Given the description of an element on the screen output the (x, y) to click on. 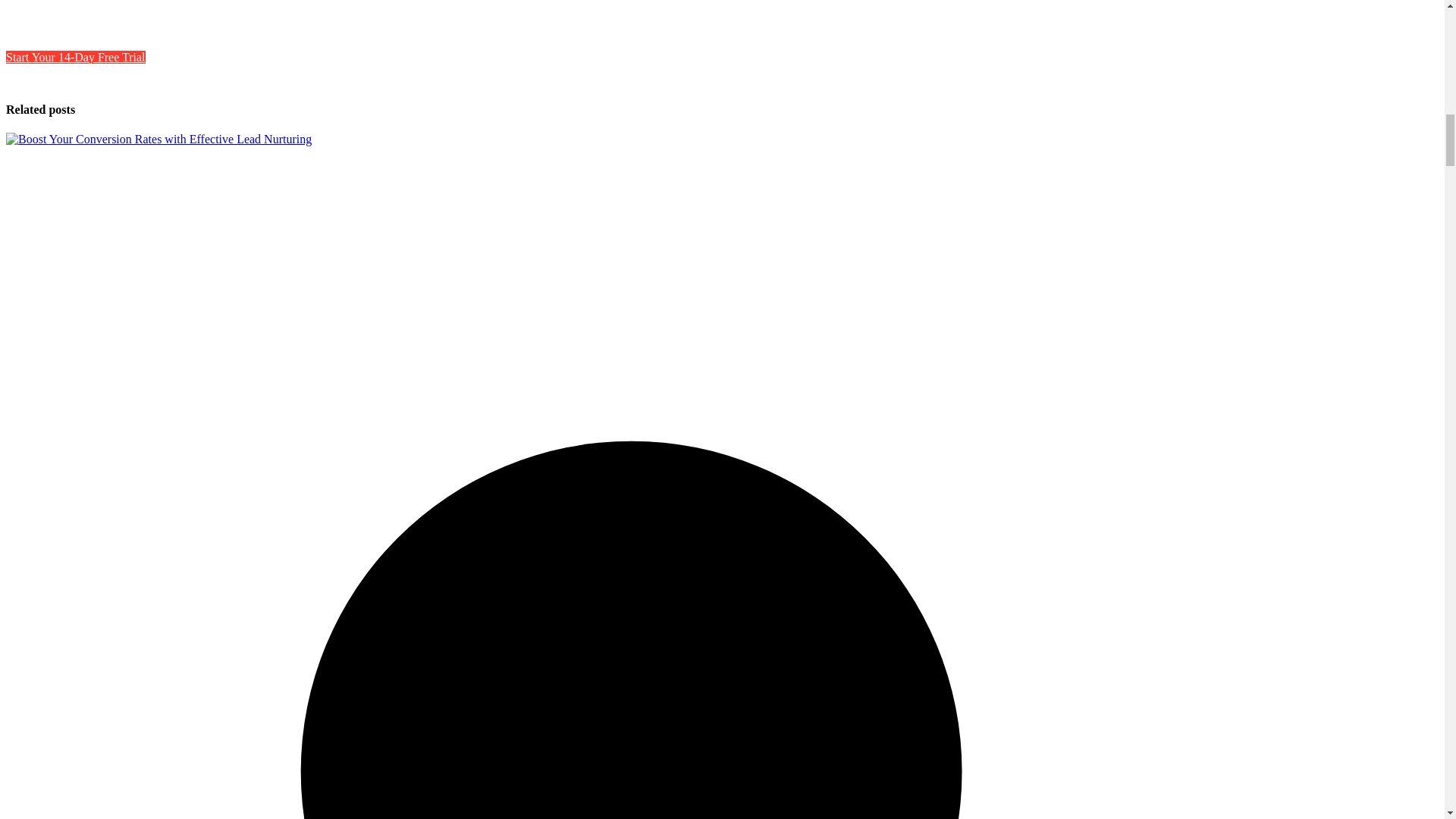
Start Your 14-Day Free Trial (75, 56)
